Given the description of an element on the screen output the (x, y) to click on. 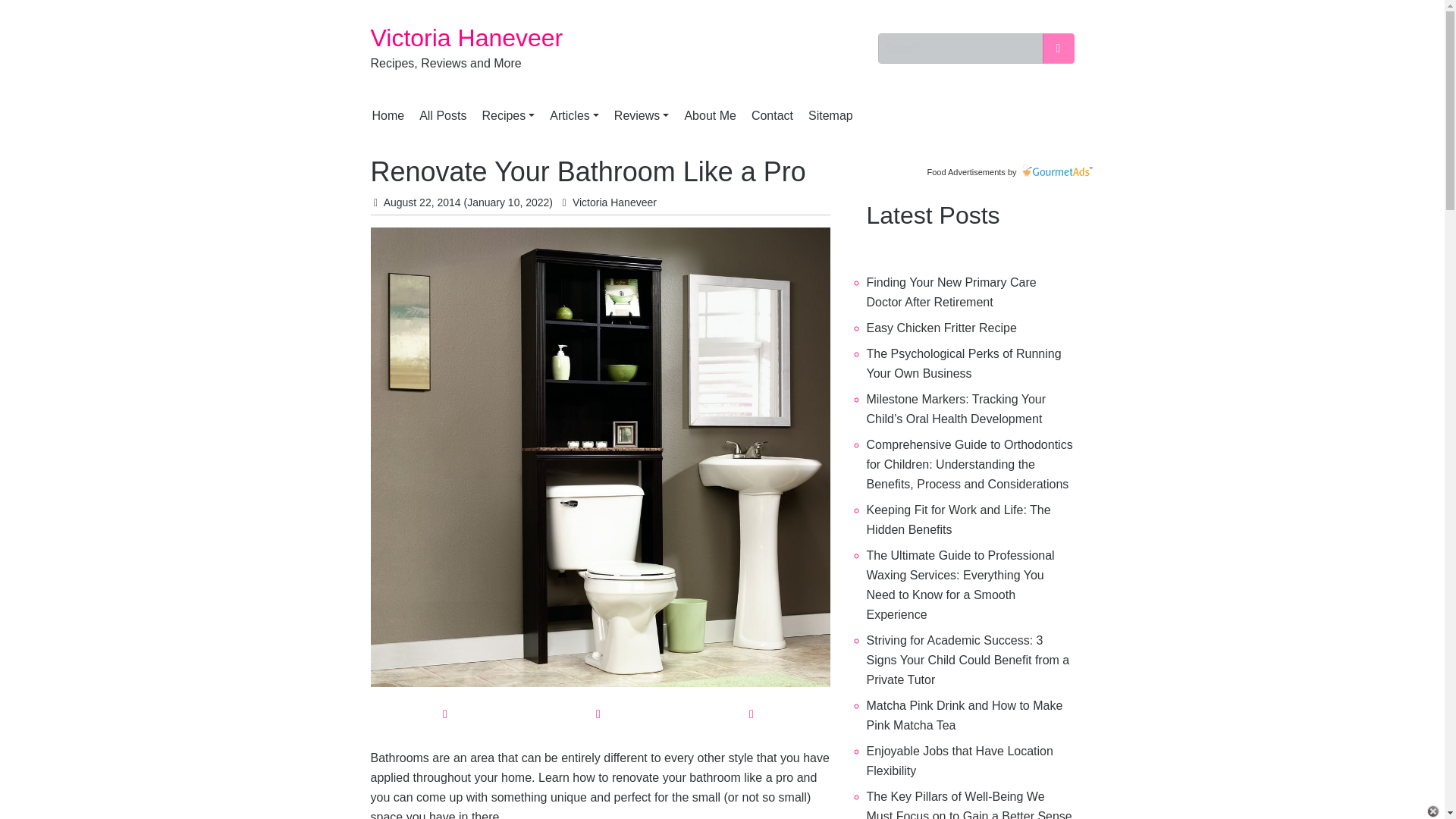
Reviews (642, 115)
Recipes (507, 115)
Recipes (507, 115)
About Me (709, 115)
All Posts (443, 115)
Sitemap (830, 115)
Contact (772, 115)
Home (388, 115)
Skip to content (367, 39)
Victoria Haneveer (465, 37)
All Posts (443, 115)
Victoria Haneveer (465, 37)
Articles (574, 115)
Home (388, 115)
